Given the description of an element on the screen output the (x, y) to click on. 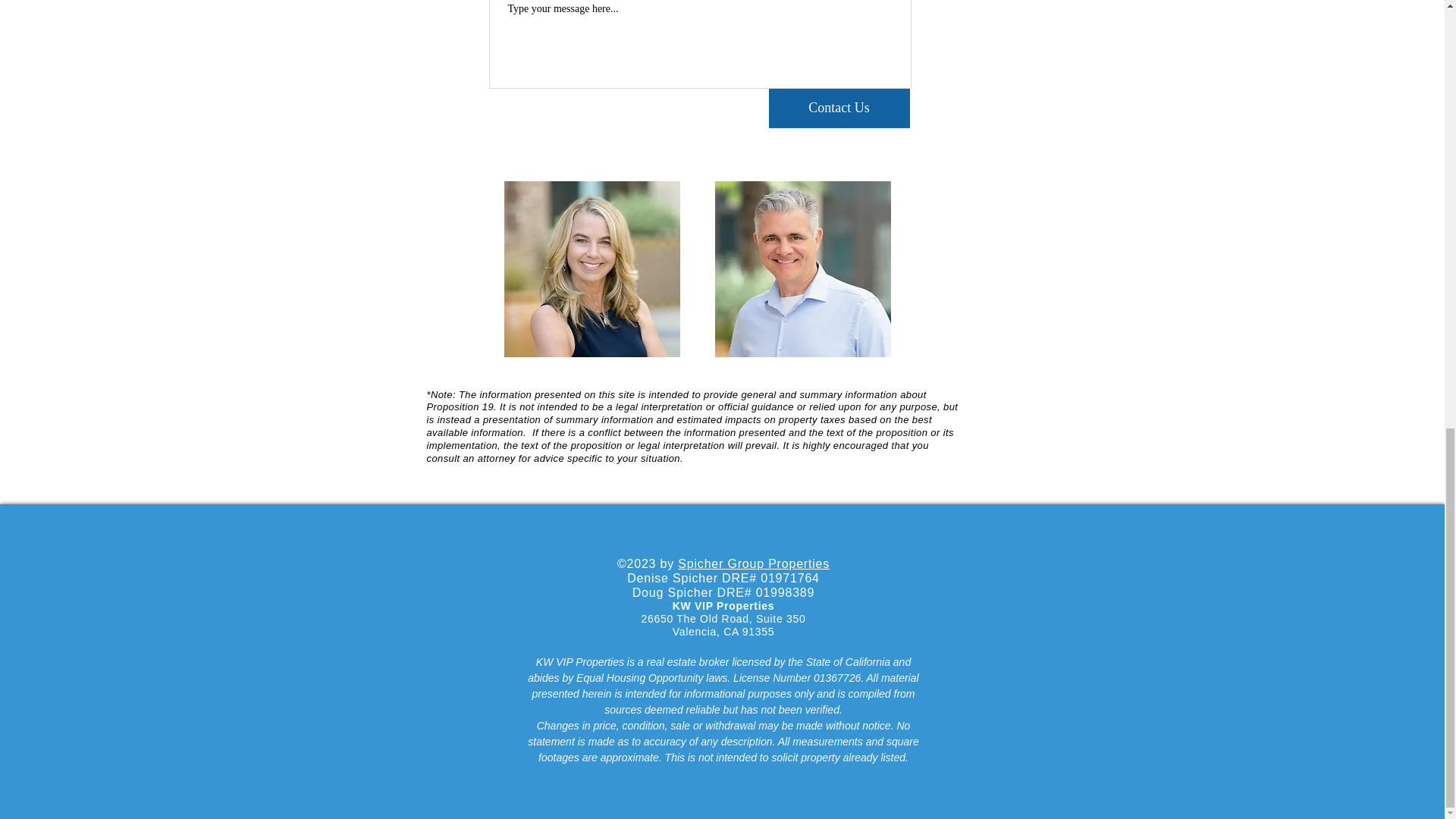
Spicher Group Properties (753, 563)
Doug Spicher - Realtor (801, 268)
Contact Us (839, 107)
Denise Spicher - Realtor (591, 268)
